Given the description of an element on the screen output the (x, y) to click on. 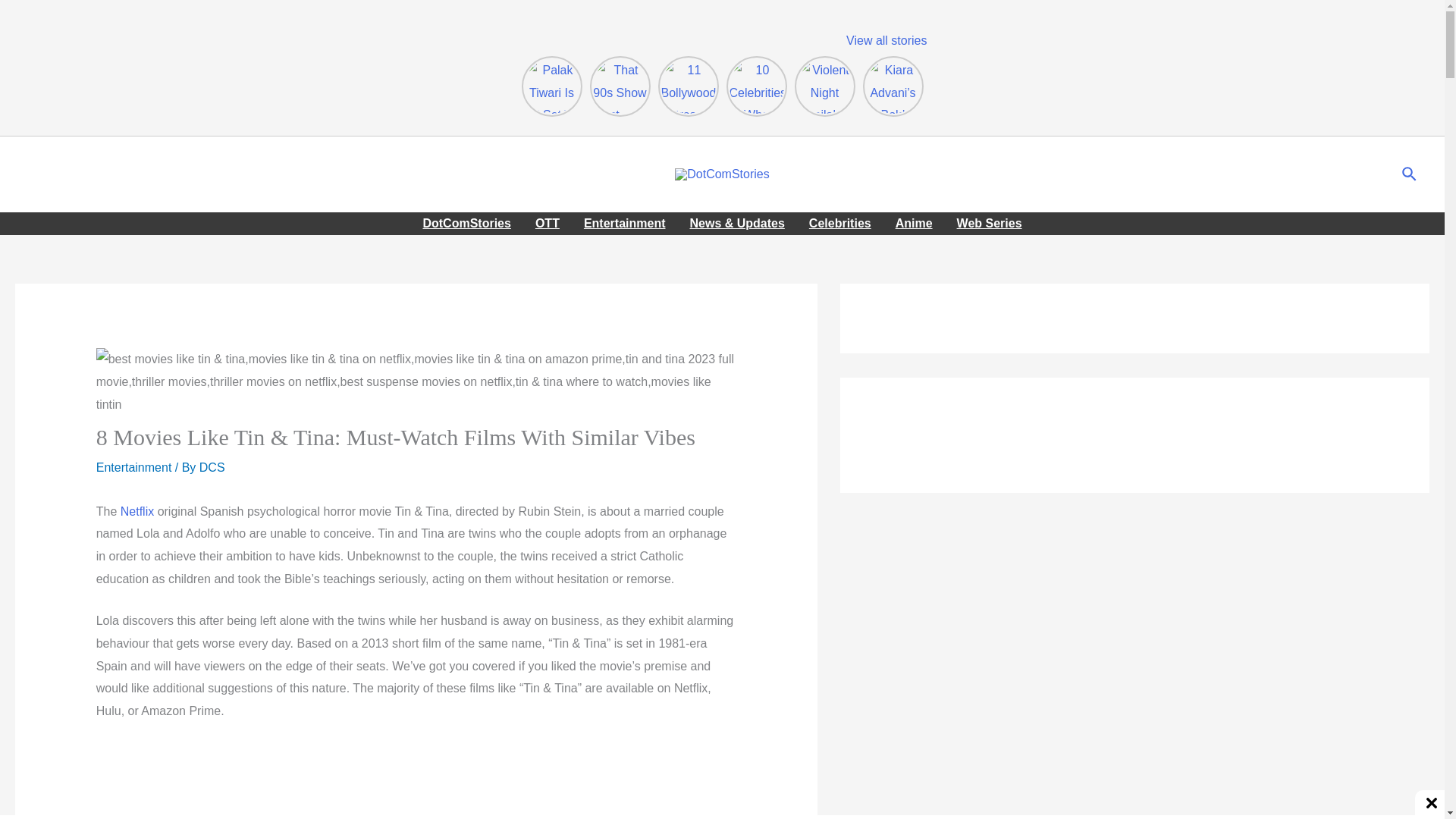
DCS (212, 467)
Anime (913, 223)
Celebrities (839, 223)
Netflix (137, 511)
Web Series (988, 223)
Entertainment (133, 467)
View all stories (885, 40)
View all posts by DCS (212, 467)
Entertainment (625, 223)
OTT (547, 223)
DotComStories (466, 223)
